Given the description of an element on the screen output the (x, y) to click on. 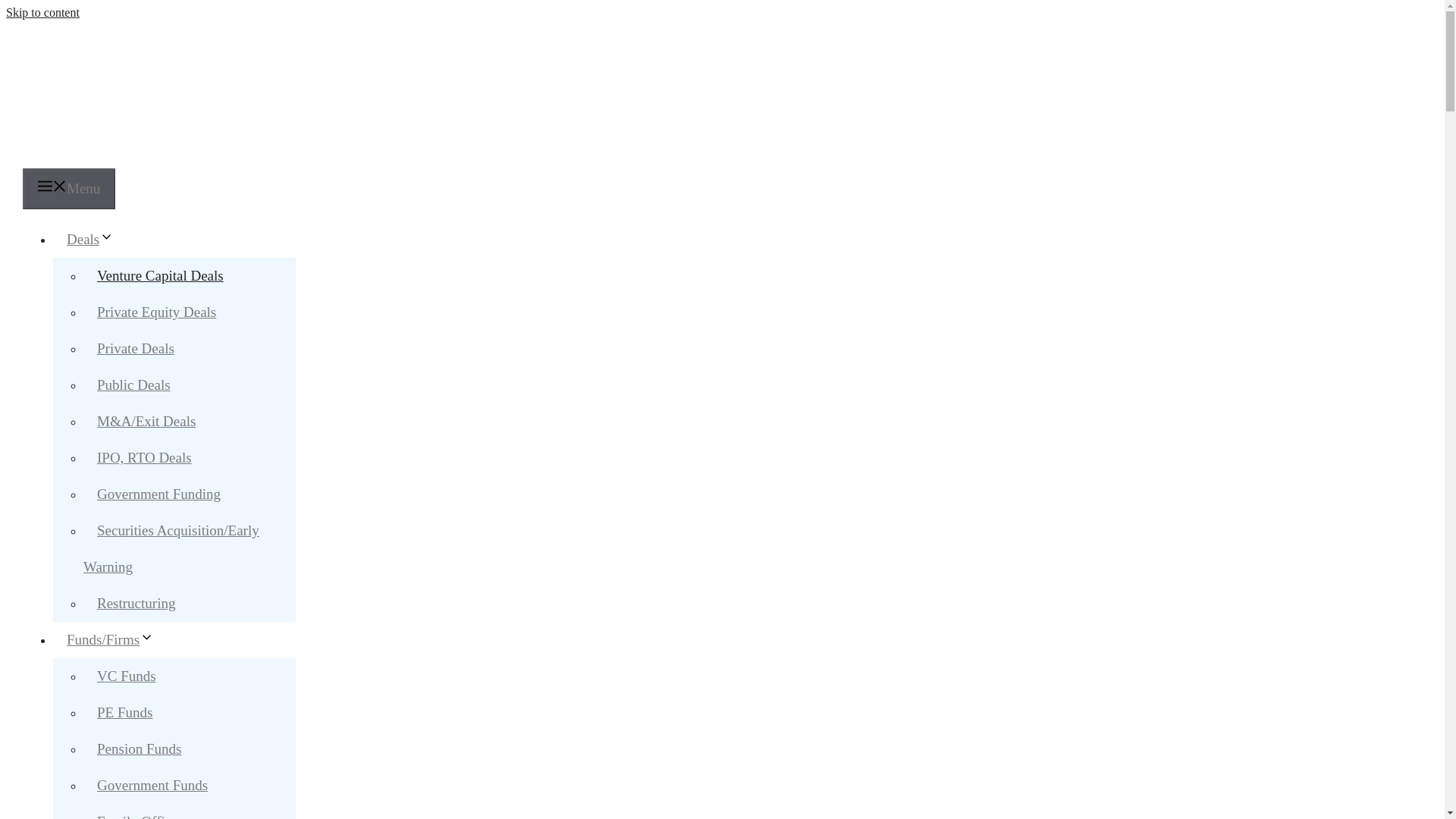
Deals (96, 238)
Government Funds (151, 785)
PE Funds (123, 712)
Skip to content (42, 11)
Private Equity Deals (156, 311)
VC Funds (126, 675)
Skip to content (42, 11)
Private Deals (134, 348)
Pension Funds (138, 748)
Government Funding (158, 493)
